Given the description of an element on the screen output the (x, y) to click on. 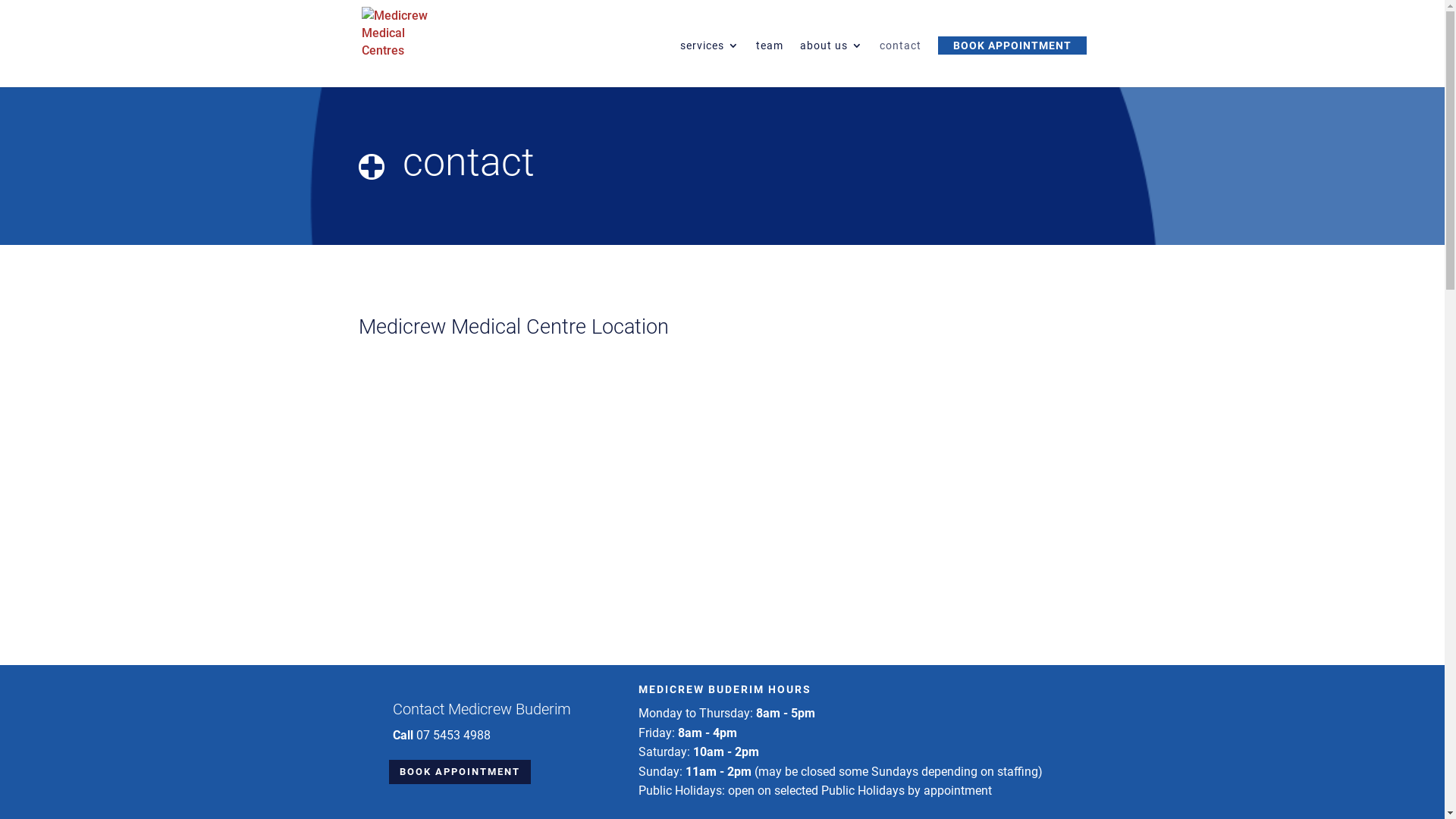
BOOK APPOINTMENT Element type: text (459, 771)
contact Element type: text (900, 63)
services Element type: text (708, 63)
about us Element type: text (830, 63)
team Element type: text (768, 63)
BOOK APPOINTMENT Element type: text (1011, 45)
